Given the description of an element on the screen output the (x, y) to click on. 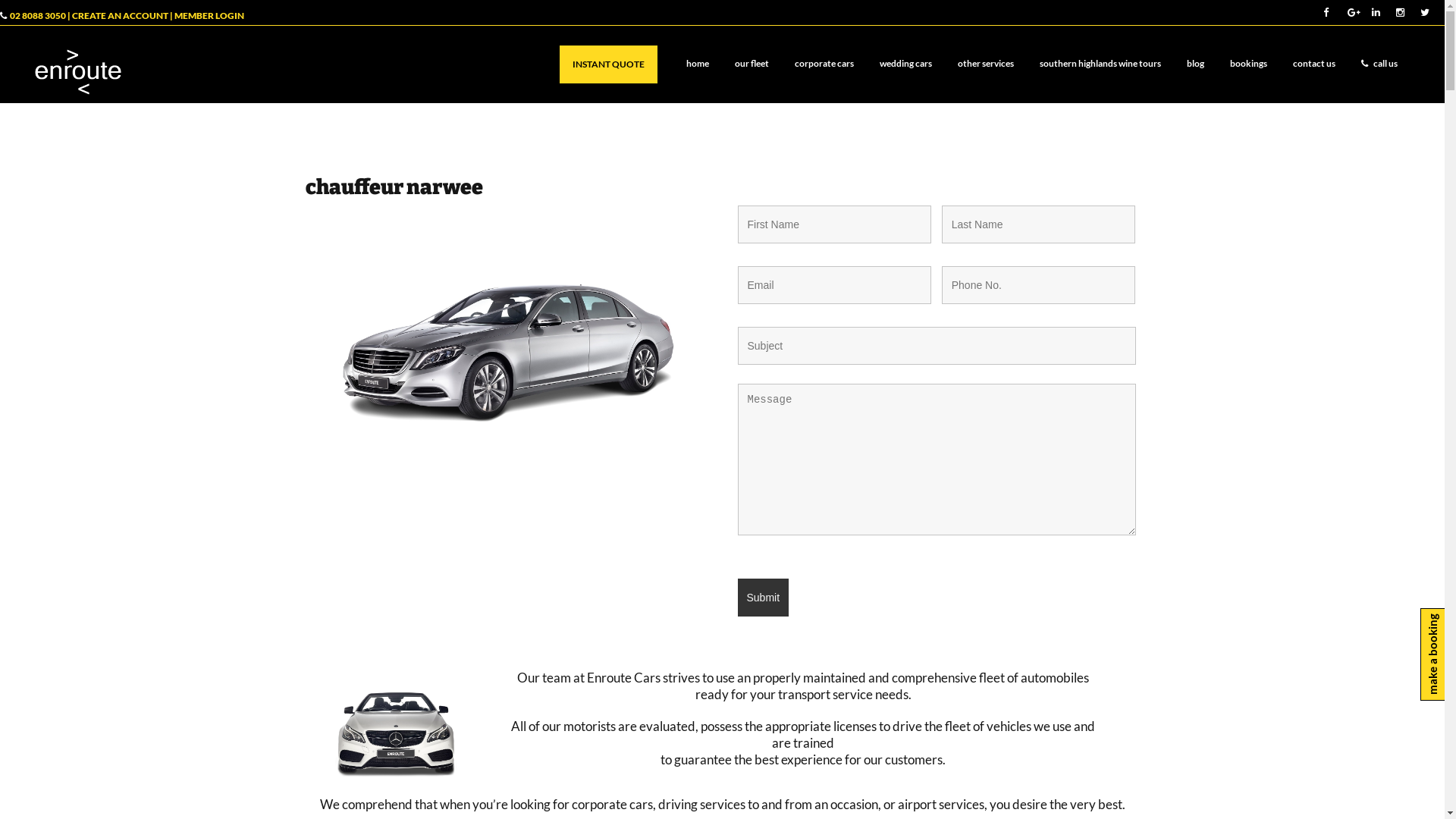
blog Element type: text (1195, 63)
INSTANT QUOTE Element type: text (608, 64)
bookings Element type: text (1248, 63)
our fleet Element type: text (751, 63)
MEMBER LOGIN Element type: text (209, 15)
CREATE AN ACCOUNT Element type: text (120, 15)
other services Element type: text (985, 63)
wedding cars Element type: text (905, 63)
corporate cars Element type: text (823, 63)
home Element type: text (697, 63)
02 8088 3050 Element type: text (36, 15)
call us Element type: text (1379, 63)
southern highlands wine tours Element type: text (1099, 63)
contact us Element type: text (1314, 63)
